Given the description of an element on the screen output the (x, y) to click on. 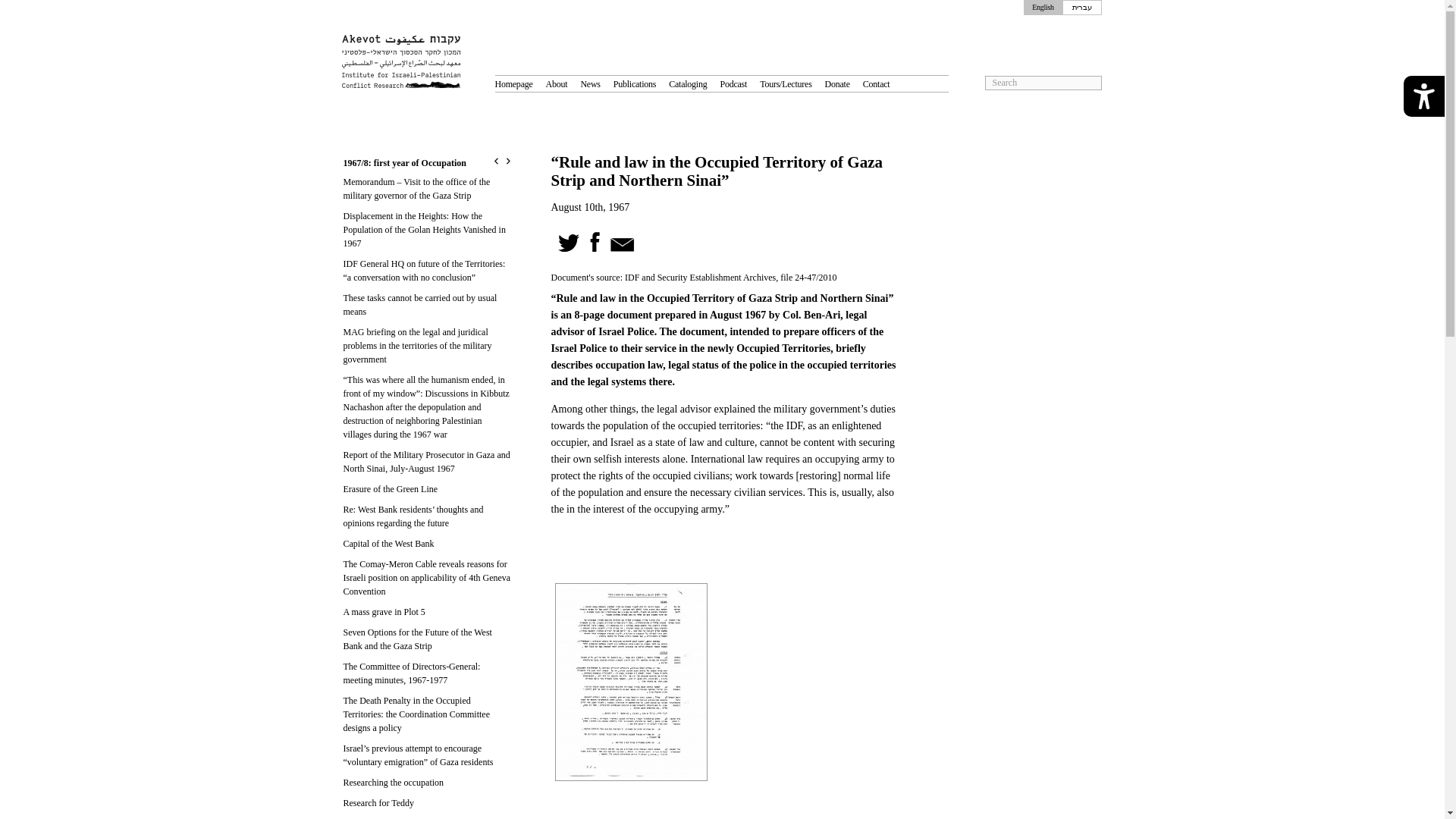
About (556, 83)
News (589, 83)
Publications (634, 83)
Homepage (513, 83)
Cataloging (687, 83)
